Given the description of an element on the screen output the (x, y) to click on. 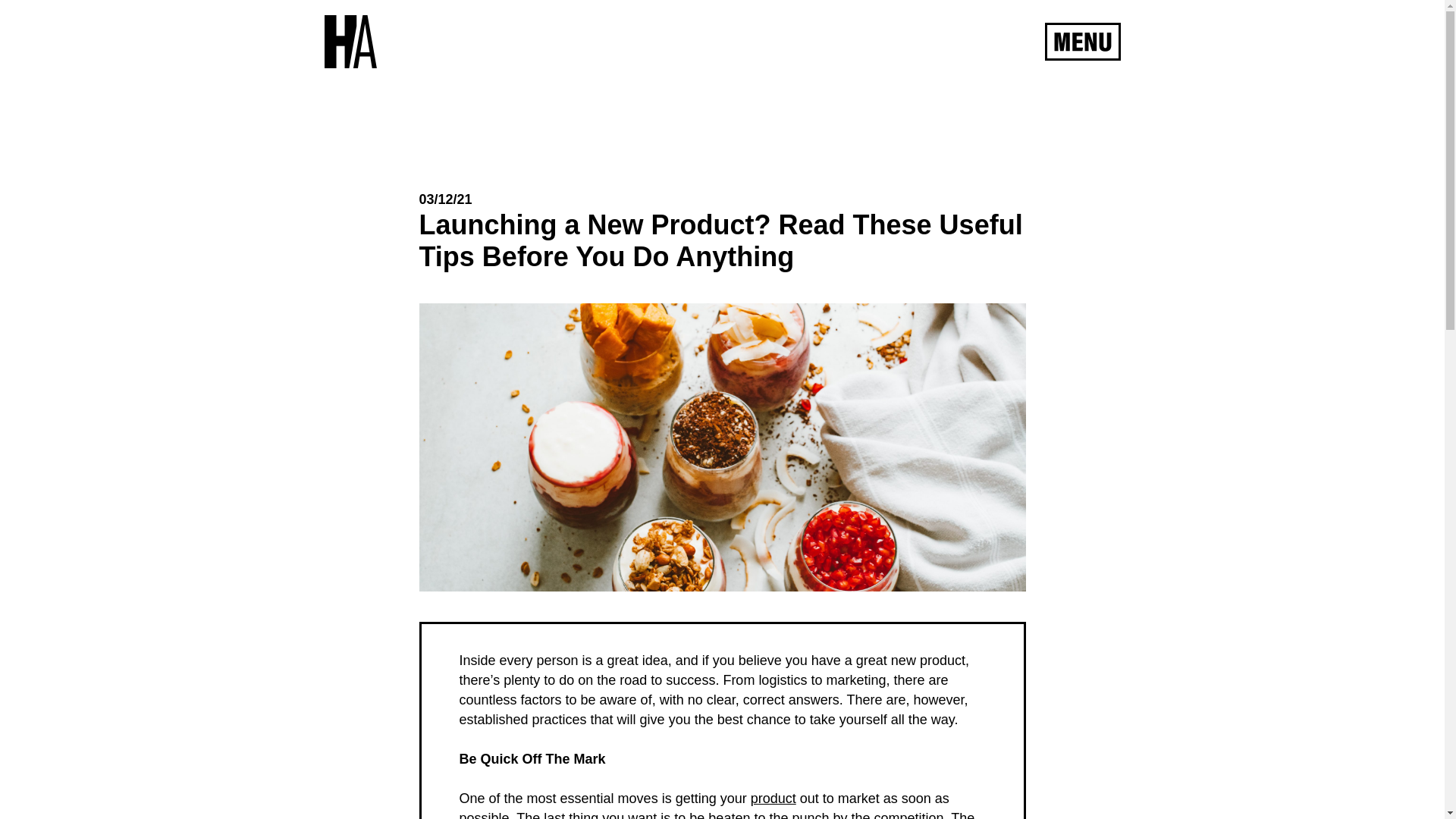
product (773, 798)
